Given the description of an element on the screen output the (x, y) to click on. 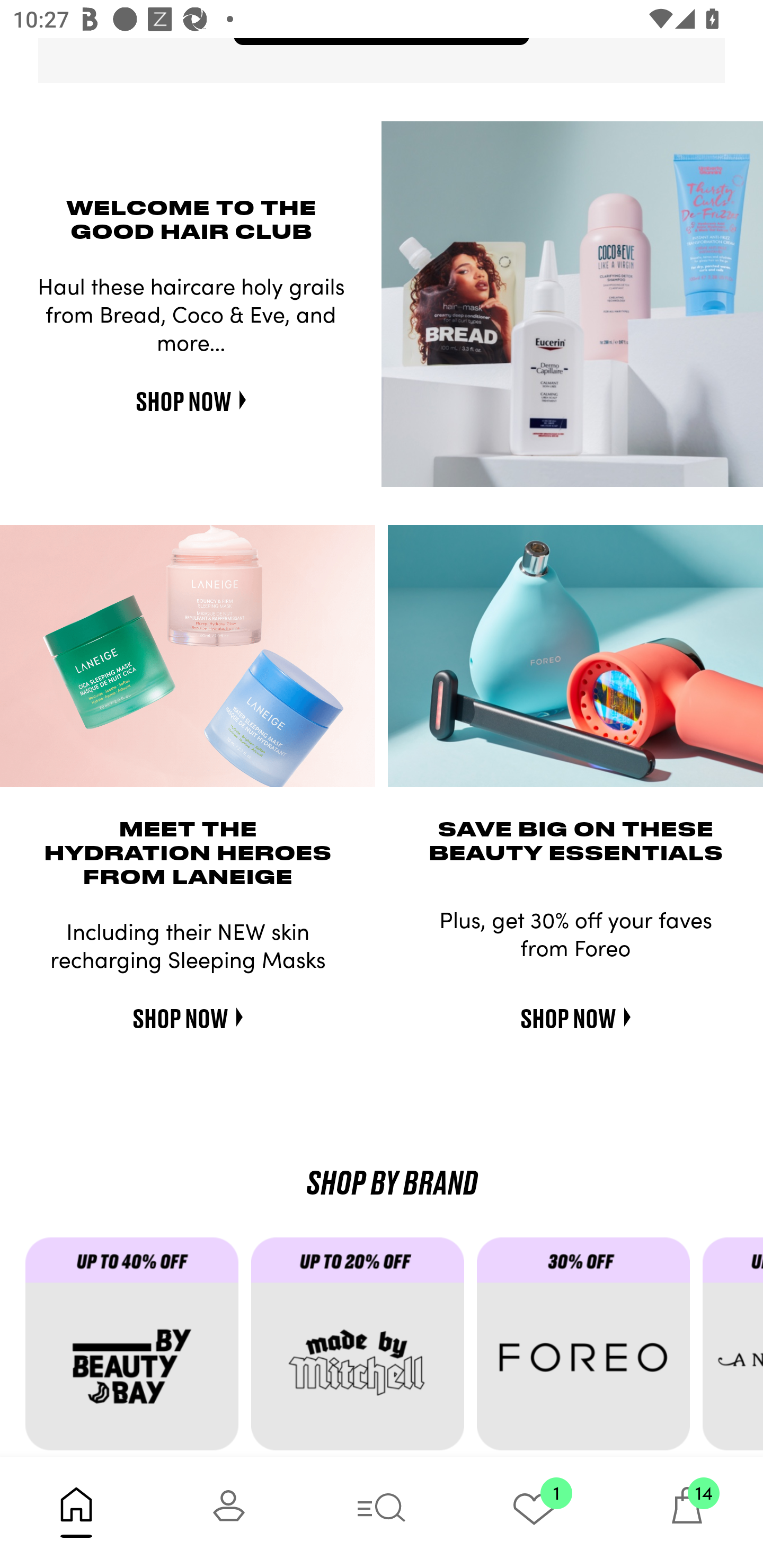
1 (533, 1512)
14 (686, 1512)
